Given the description of an element on the screen output the (x, y) to click on. 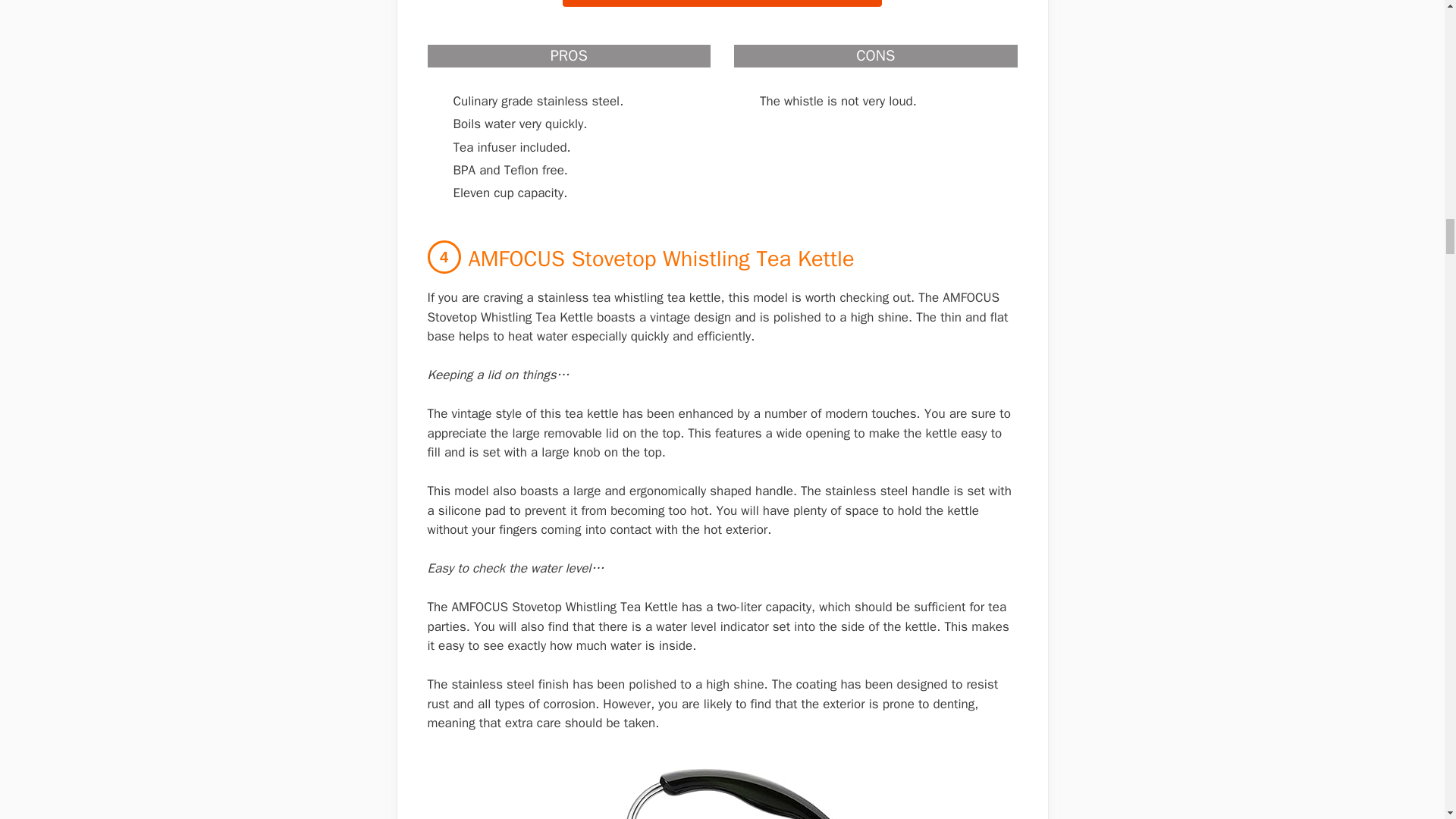
CHECK PRICE ON AMAZON (721, 2)
